Given the description of an element on the screen output the (x, y) to click on. 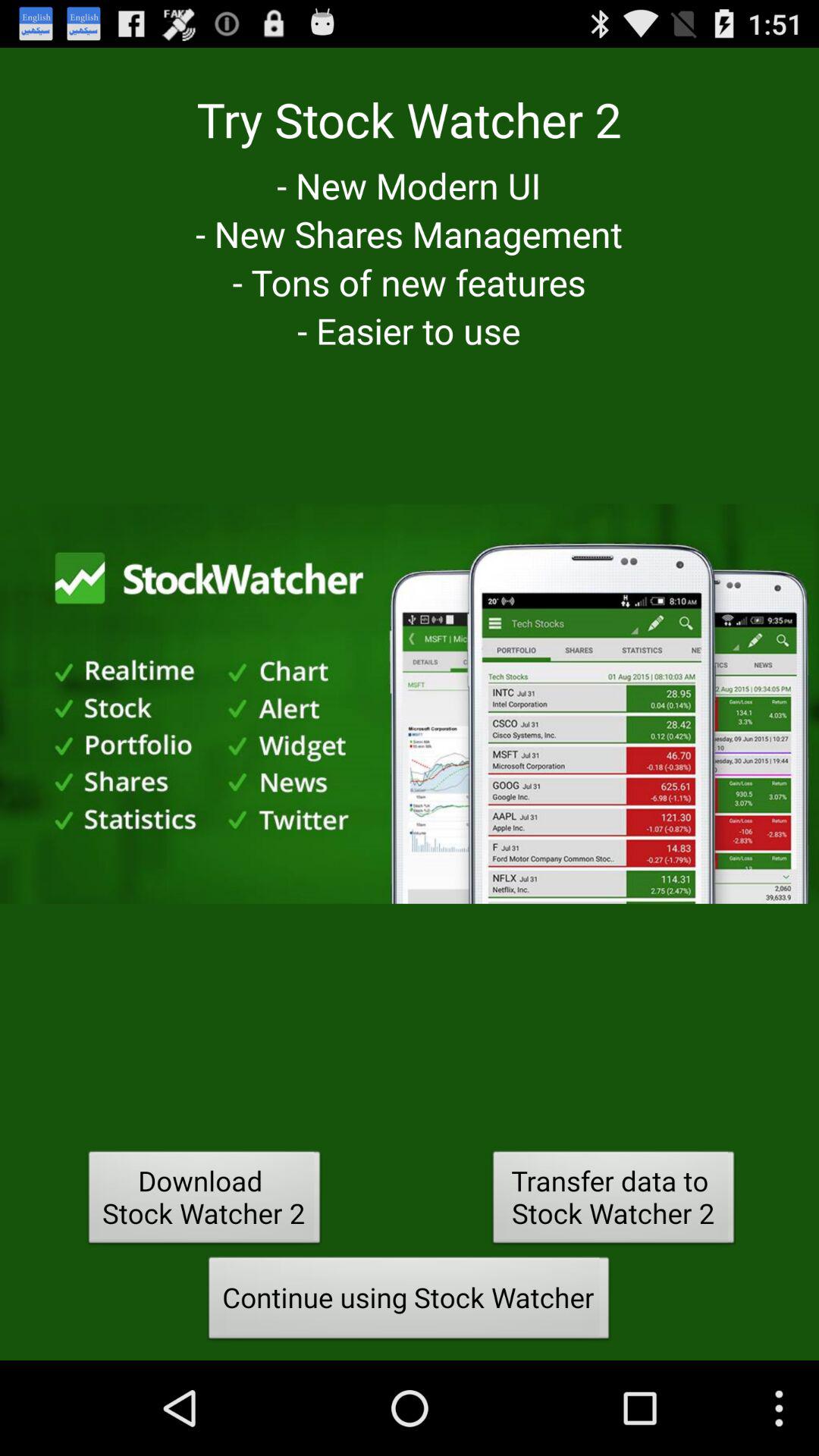
scroll until continue using stock item (409, 1302)
